Given the description of an element on the screen output the (x, y) to click on. 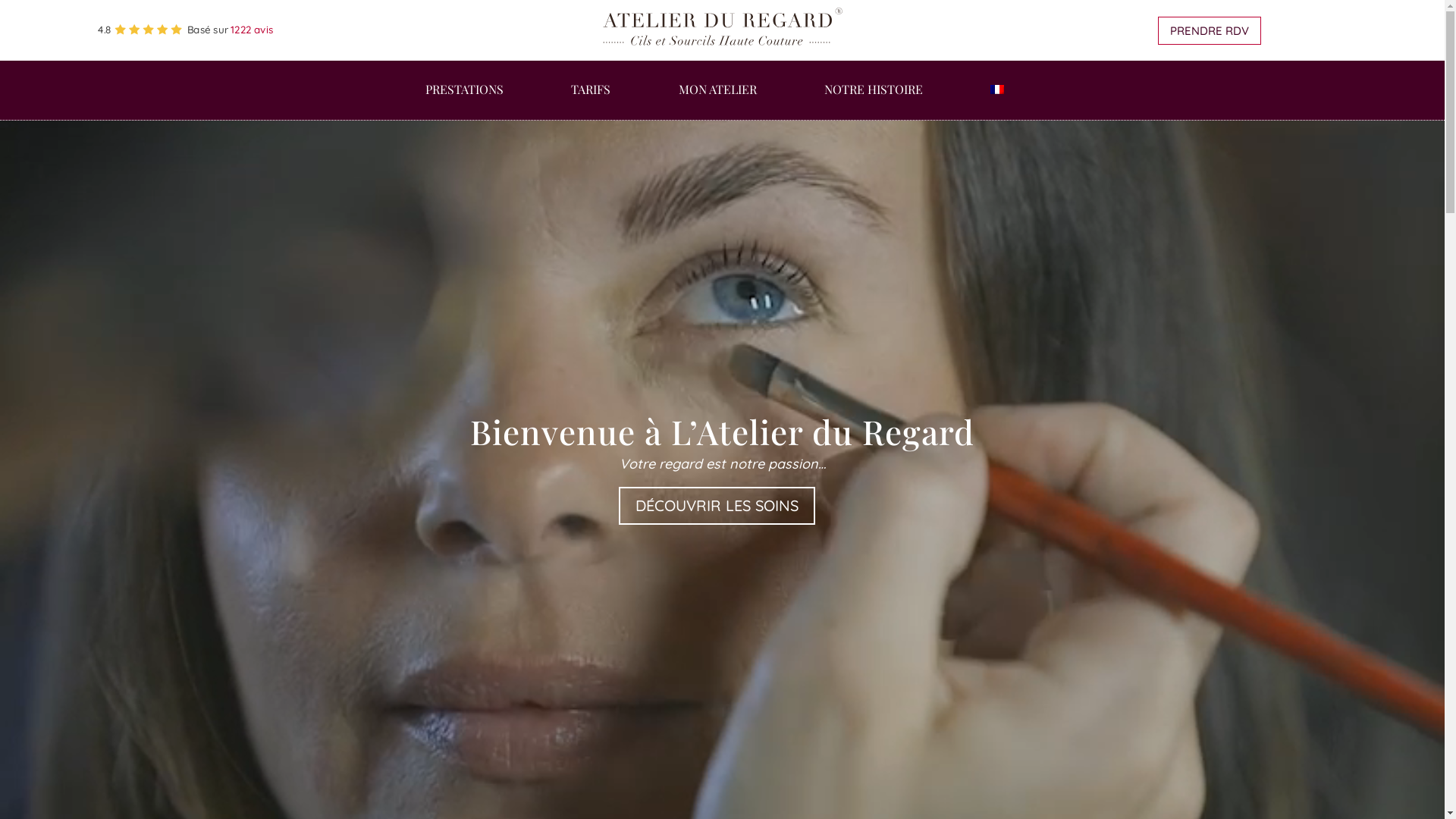
PRENDRE RDV Element type: text (1209, 30)
TARIFS Element type: text (590, 101)
NOTRE HISTOIRE Element type: text (873, 101)
PRESTATIONS Element type: text (464, 101)
logo-AdR_Plan de travail 1 Element type: hover (770, 36)
MON ATELIER Element type: text (716, 101)
1222 avis Element type: text (256, 30)
